Given the description of an element on the screen output the (x, y) to click on. 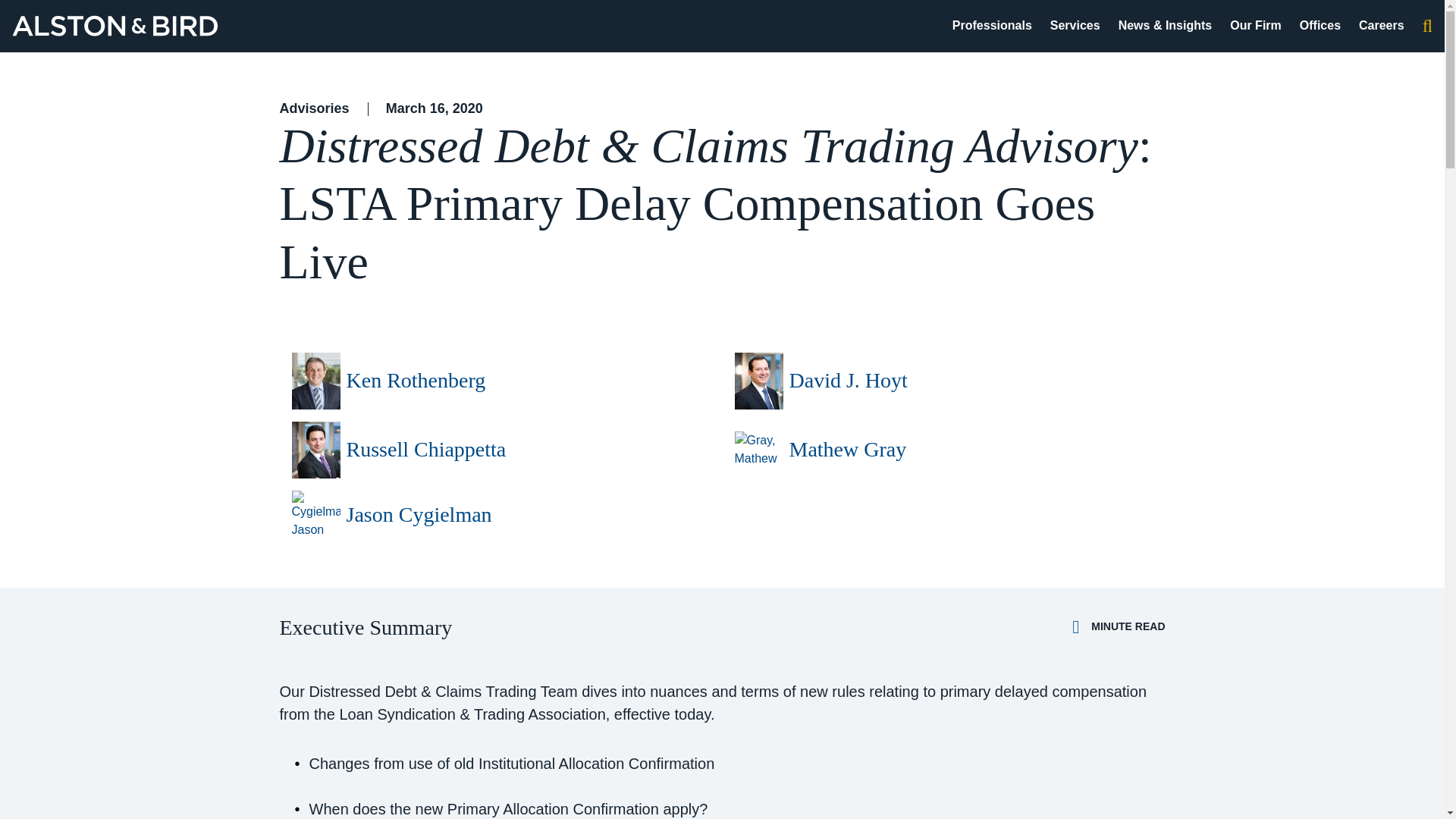
Professionals (992, 24)
Our Firm (1255, 24)
Ken Rothenberg (415, 380)
Russell Chiappetta (425, 449)
Mathew Gray (847, 449)
Jason Cygielman (419, 514)
Careers (1381, 24)
David J. Hoyt (848, 380)
Offices (1320, 24)
Services (1074, 24)
